Given the description of an element on the screen output the (x, y) to click on. 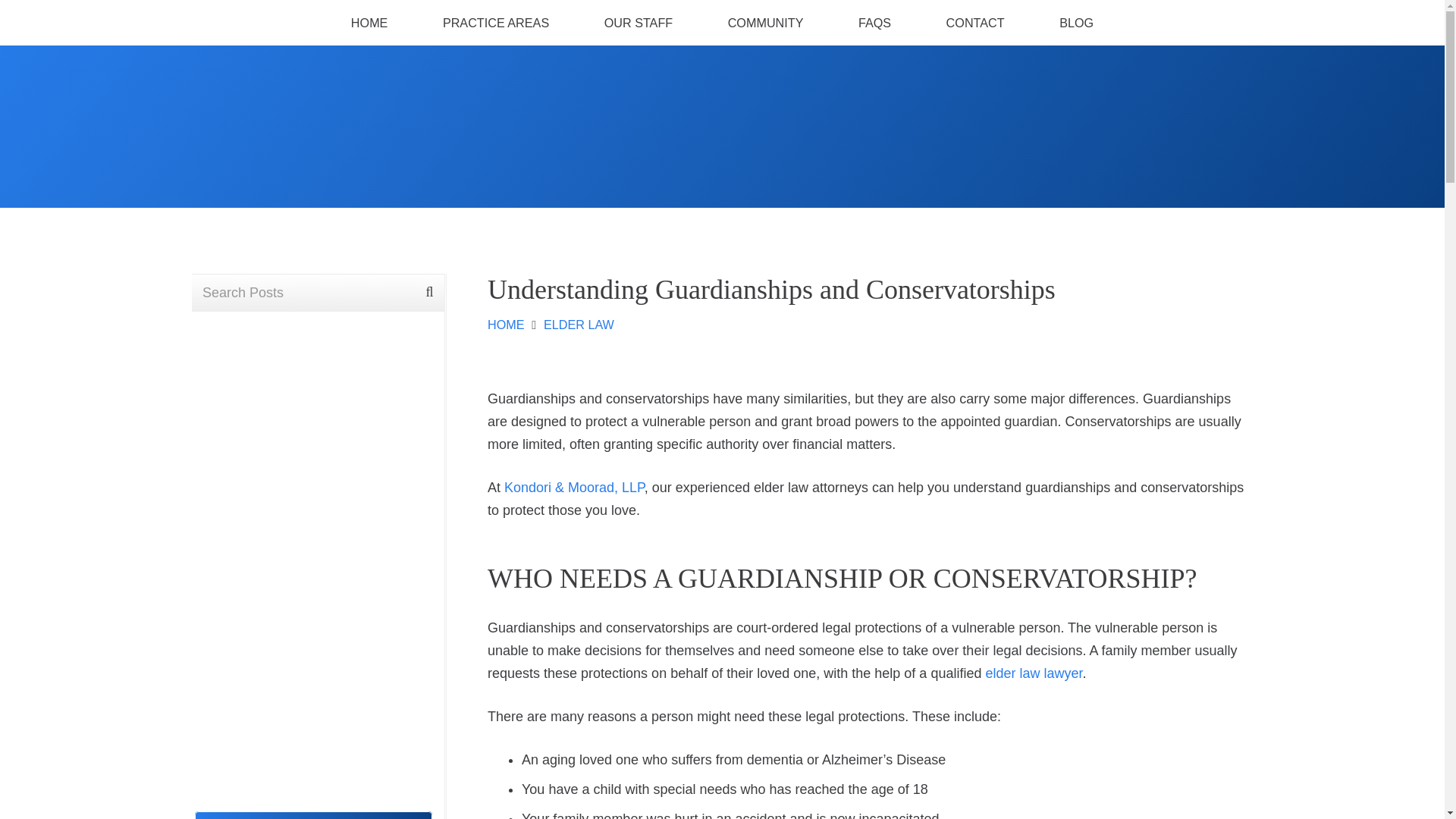
BLOG (1076, 22)
elder law lawyer (1033, 672)
Home (721, 115)
OUR STAFF (637, 22)
PRACTICE AREAS (495, 22)
ELDER LAW (578, 324)
QUESTIONS? CONTACT US TODAY! (313, 815)
FAQS (874, 22)
CONTACT (975, 22)
COMMUNITY (765, 22)
